Given the description of an element on the screen output the (x, y) to click on. 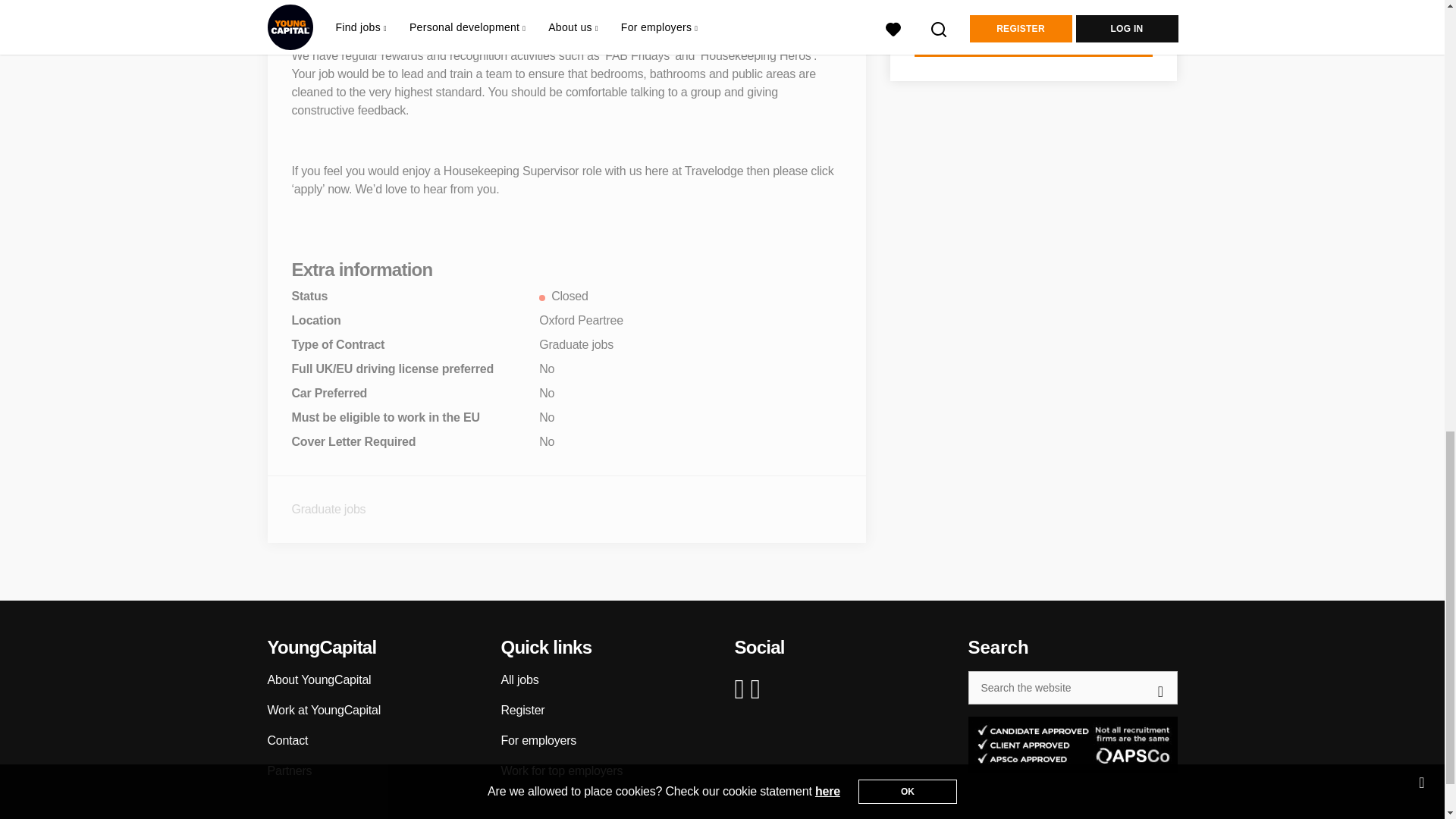
YouTube (759, 689)
LinkedIn (741, 689)
